Given the description of an element on the screen output the (x, y) to click on. 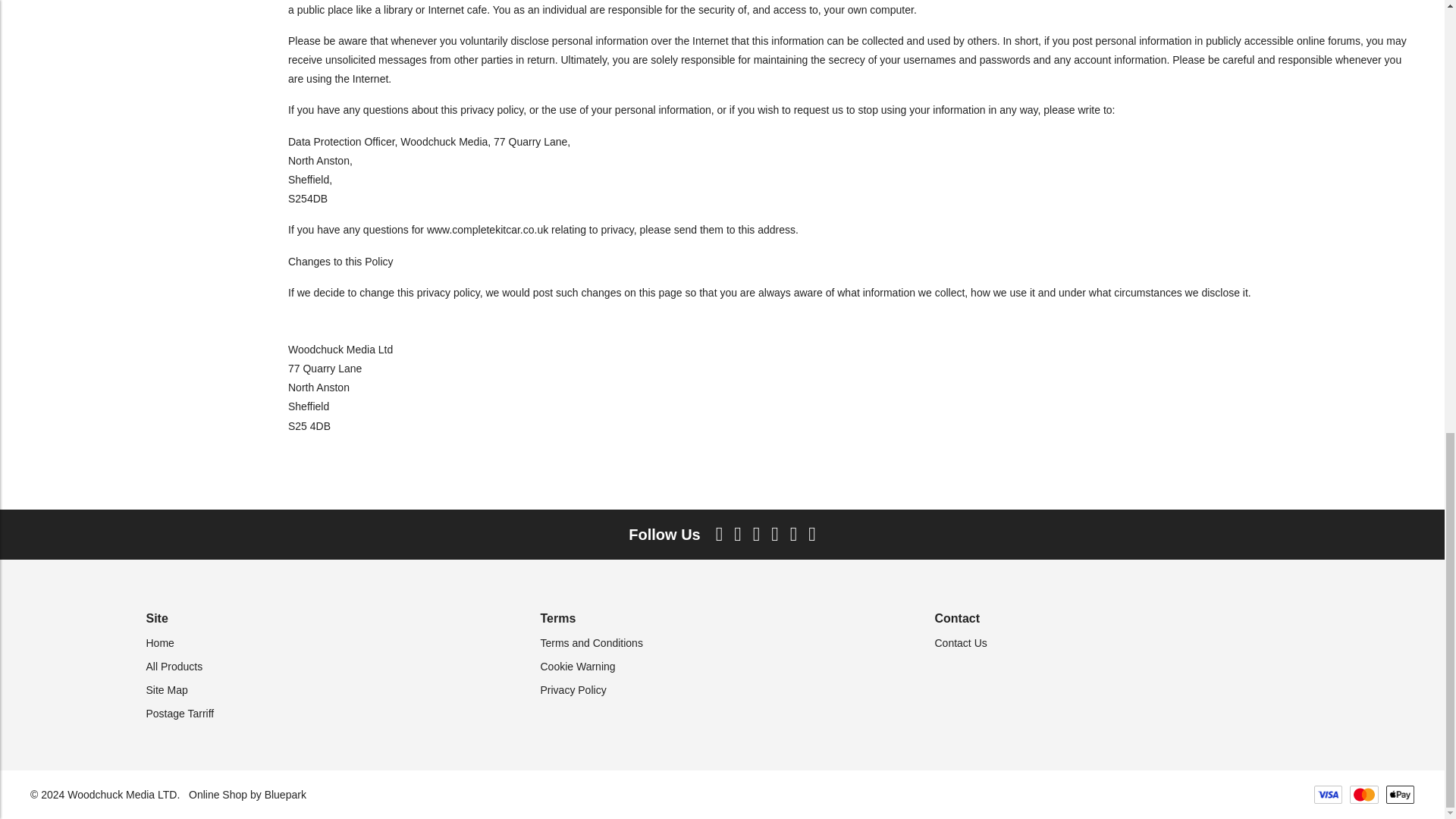
Privacy Policy (572, 689)
Online Shop by Bluepark (247, 794)
Site Map (166, 689)
Cookie Warning (577, 666)
Terms and Conditions (591, 643)
Contact Us (960, 643)
All Products (173, 666)
Postage Tarriff (179, 713)
Home (159, 643)
